Given the description of an element on the screen output the (x, y) to click on. 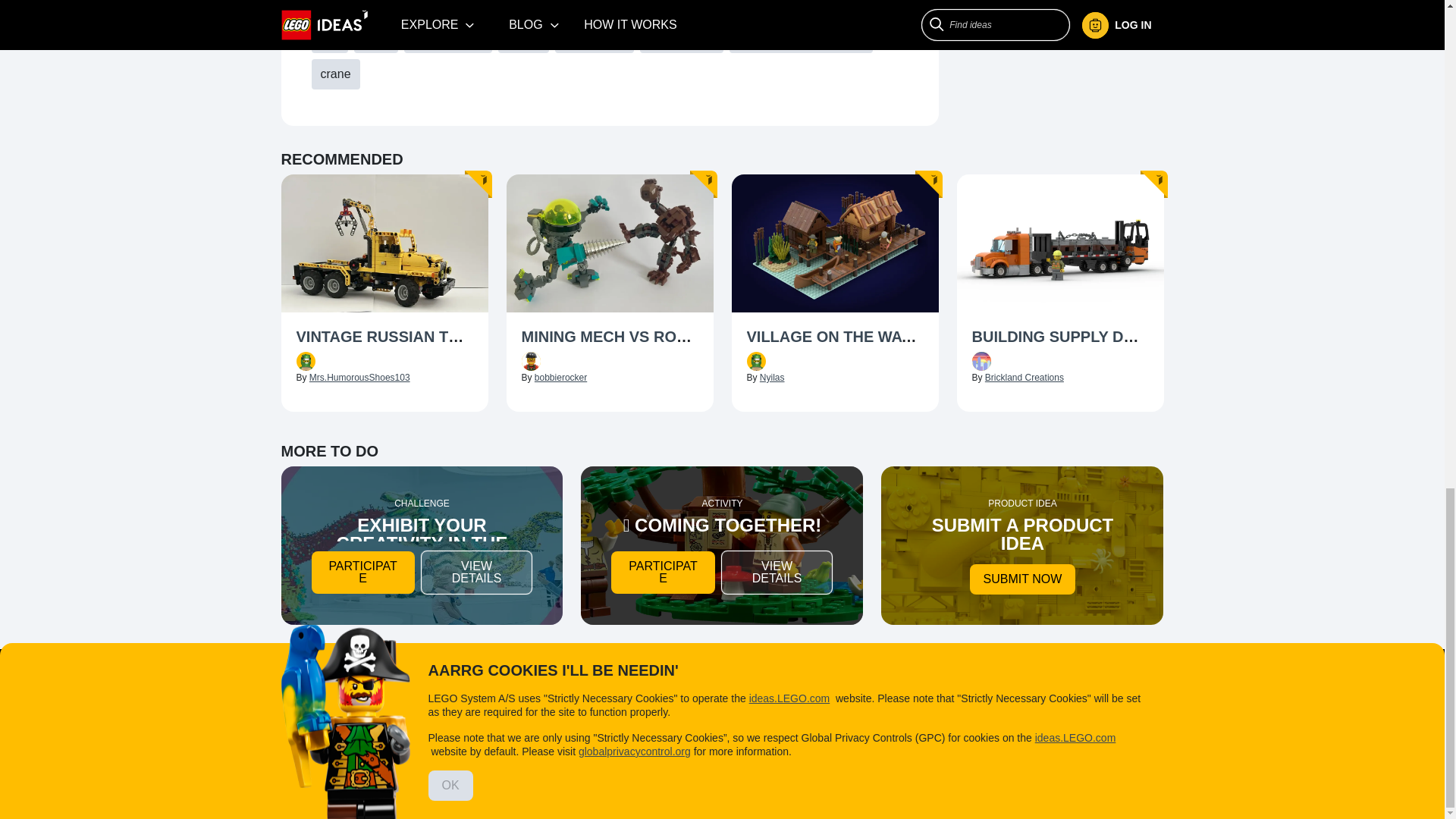
Mining Mech vs Rock Monster (609, 337)
Vintage Russian Truck (383, 337)
